Given the description of an element on the screen output the (x, y) to click on. 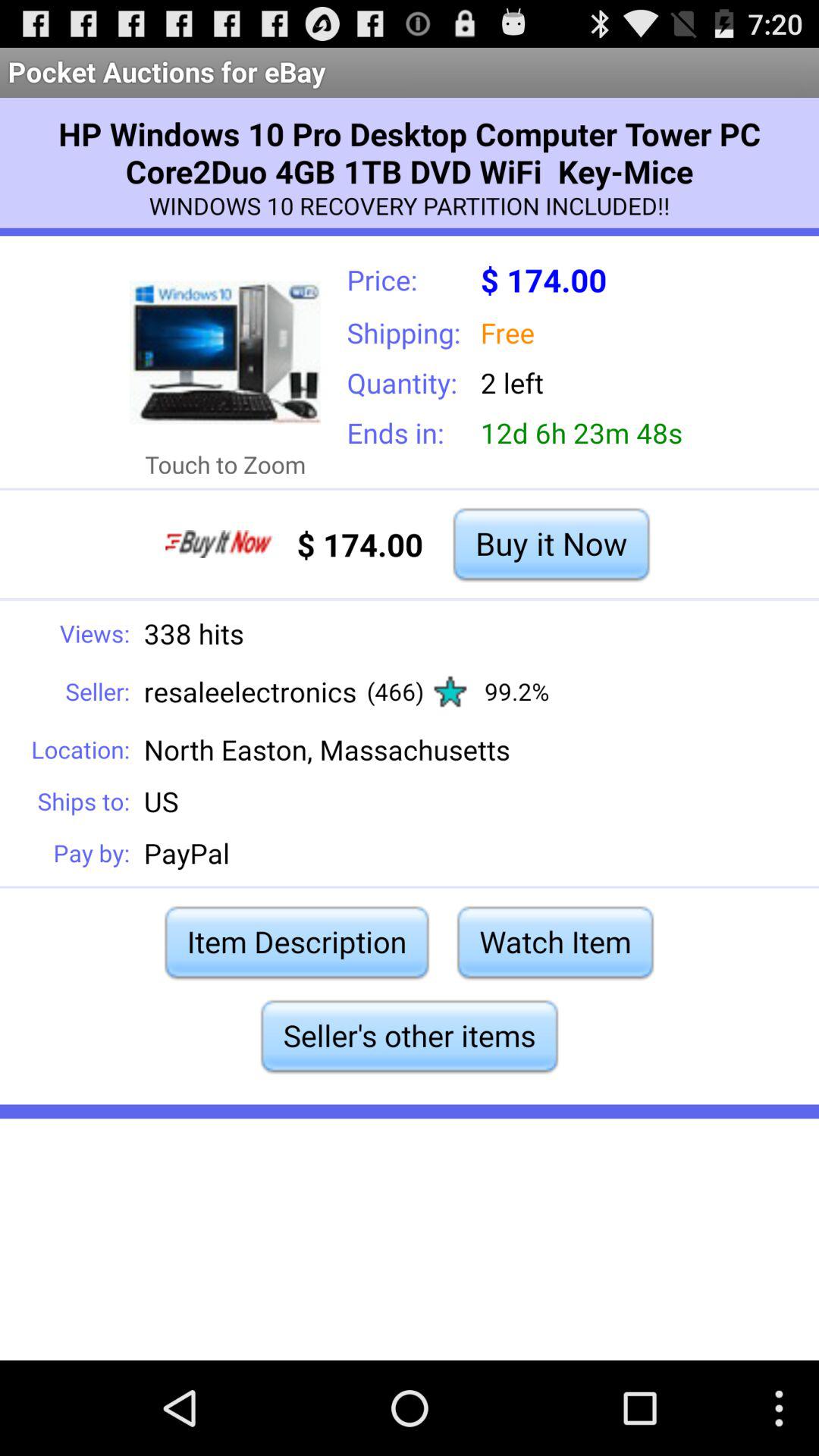
swipe until the item description button (296, 942)
